Given the description of an element on the screen output the (x, y) to click on. 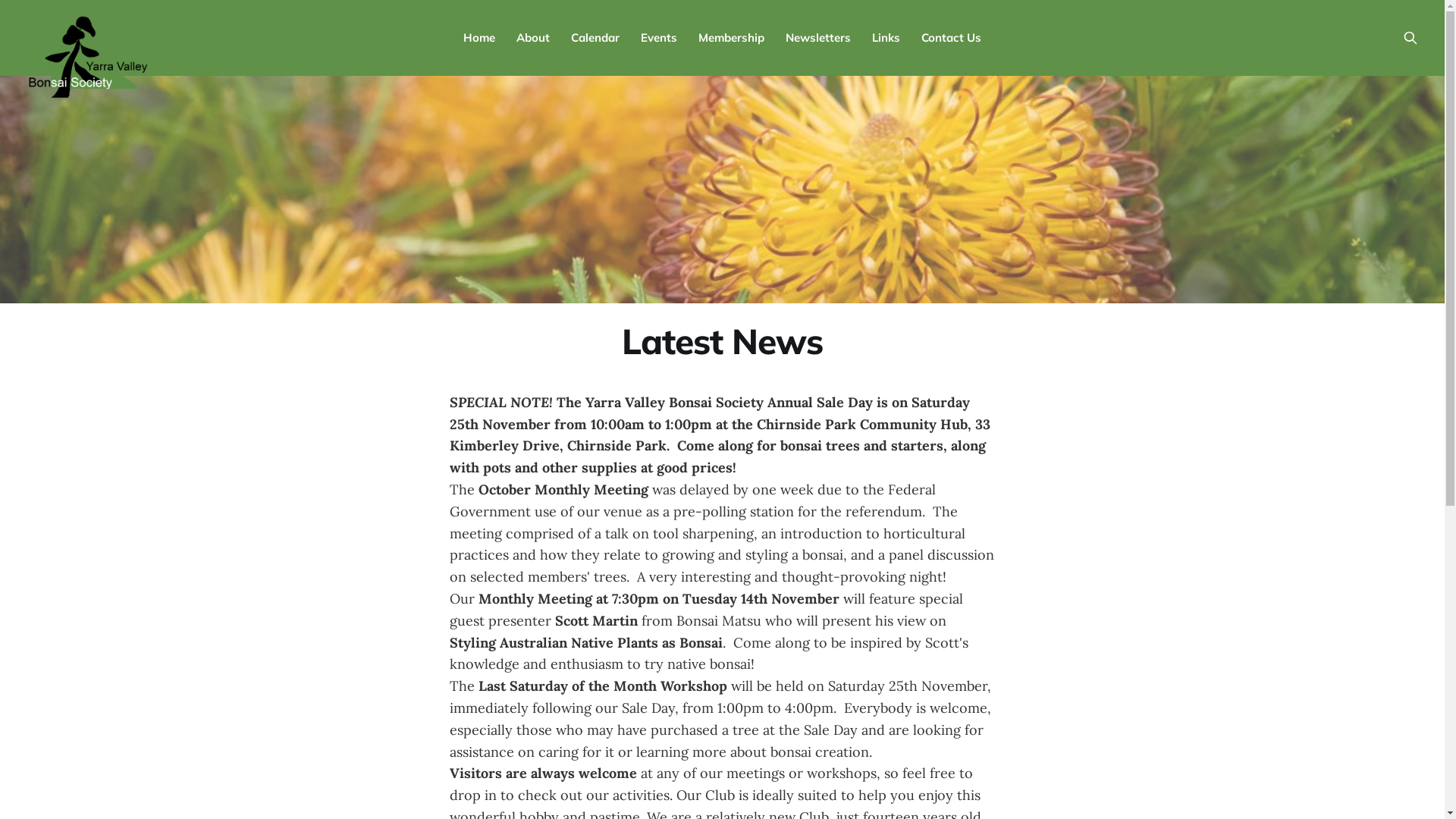
Newsletters Element type: text (817, 37)
Home Element type: text (479, 37)
Links Element type: text (886, 37)
Membership Element type: text (731, 37)
About Element type: text (532, 37)
Events Element type: text (658, 37)
Contact Us Element type: text (951, 37)
Calendar Element type: text (595, 37)
